Given the description of an element on the screen output the (x, y) to click on. 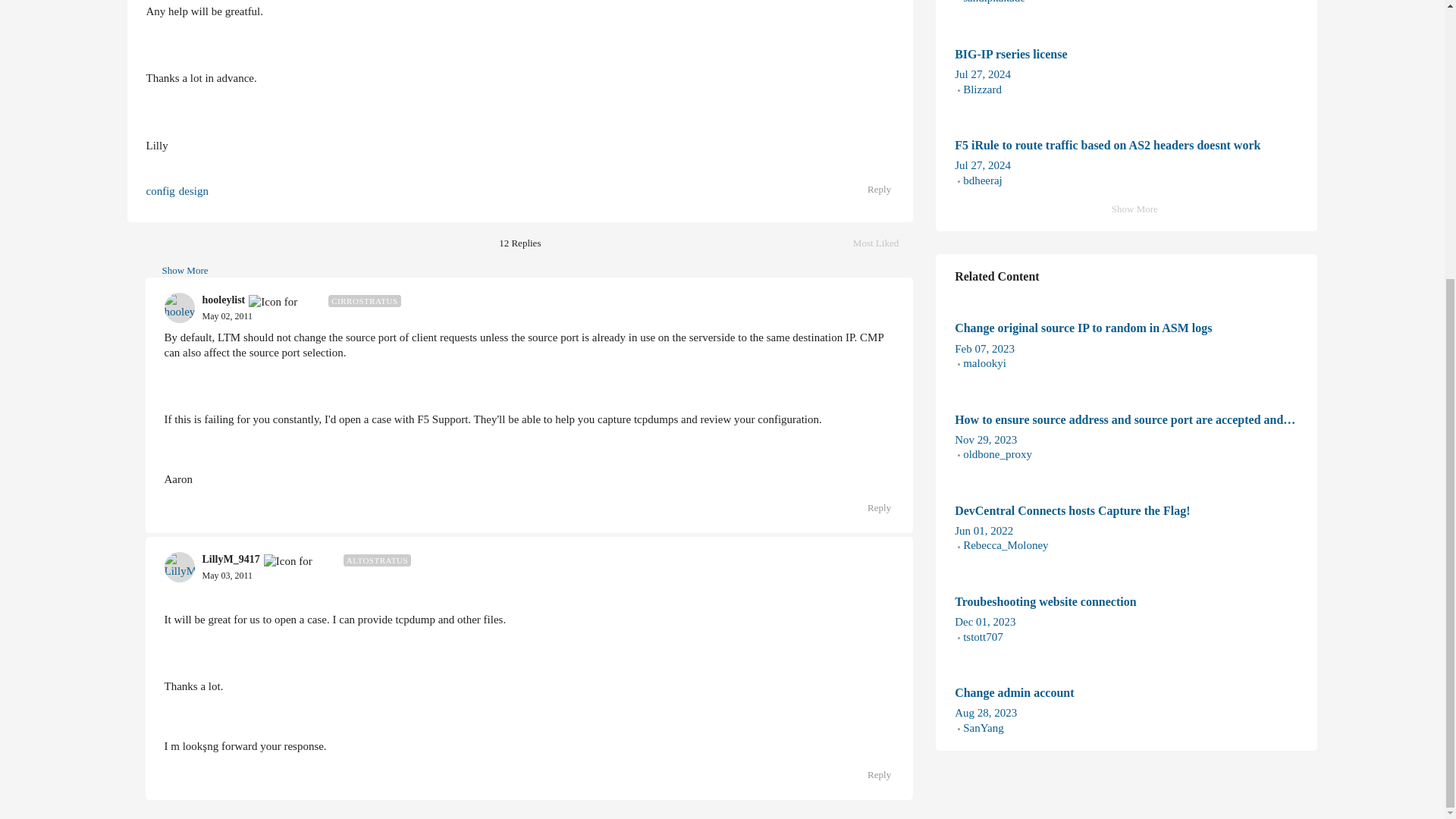
design (193, 191)
November 29, 2023 at 2:58 PM (985, 439)
hooleylist (223, 300)
config (159, 191)
May 02, 2011 (226, 316)
July 27, 2024 at 4:13 AM (982, 73)
Show More (176, 270)
May 03, 2011 (226, 576)
February 7, 2023 at 10:35 AM (882, 243)
Reply (984, 348)
May 2, 2011 at 5:37 PM (870, 507)
Show More (226, 316)
May 3, 2011 at 6:33 AM (176, 270)
Show More (226, 575)
